Given the description of an element on the screen output the (x, y) to click on. 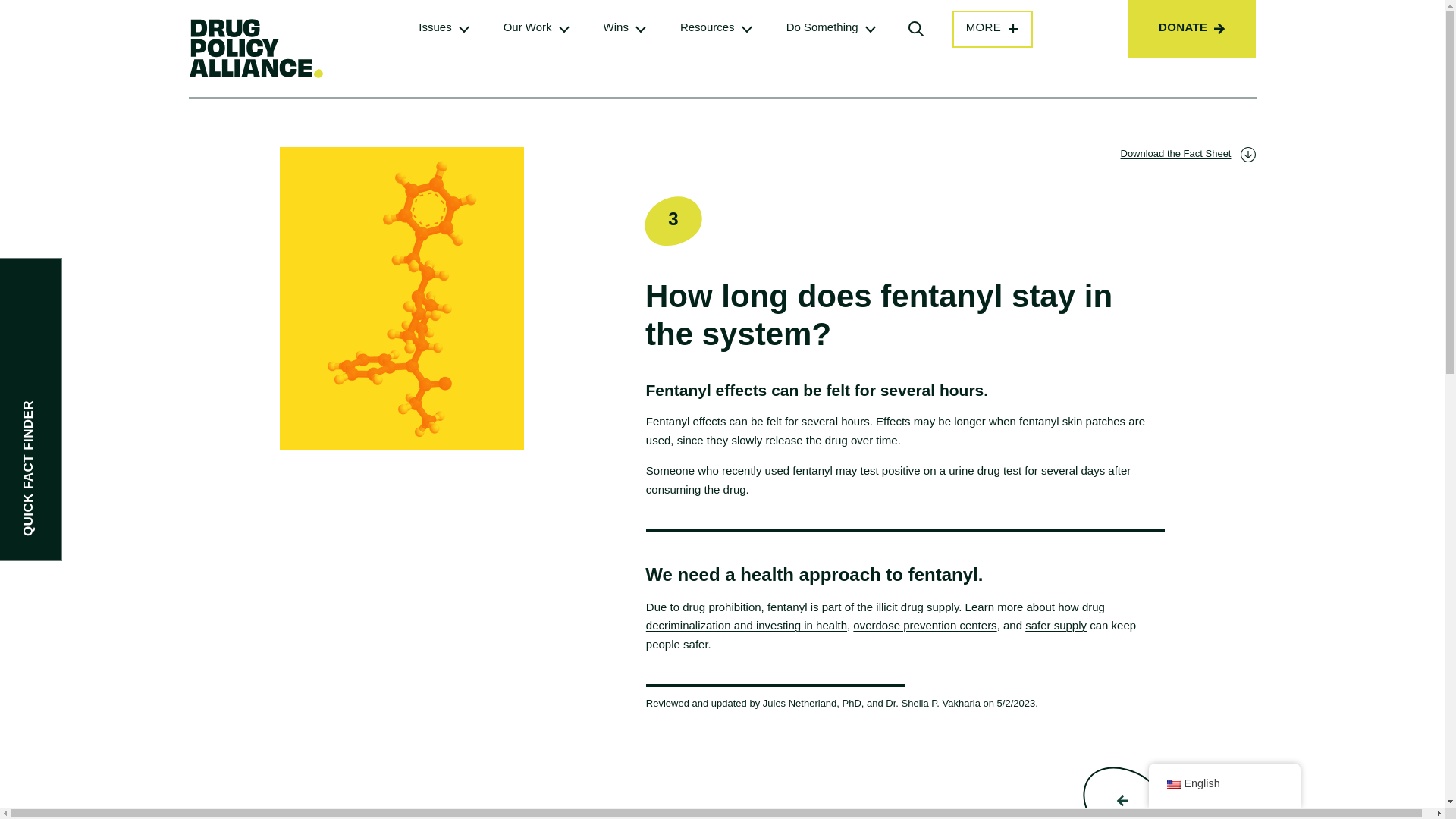
Do Something (822, 27)
MORE (992, 28)
Wins (616, 27)
DONATE (1191, 29)
English (1172, 783)
Our Work (527, 27)
Resources (707, 27)
Issues (435, 27)
